Given the description of an element on the screen output the (x, y) to click on. 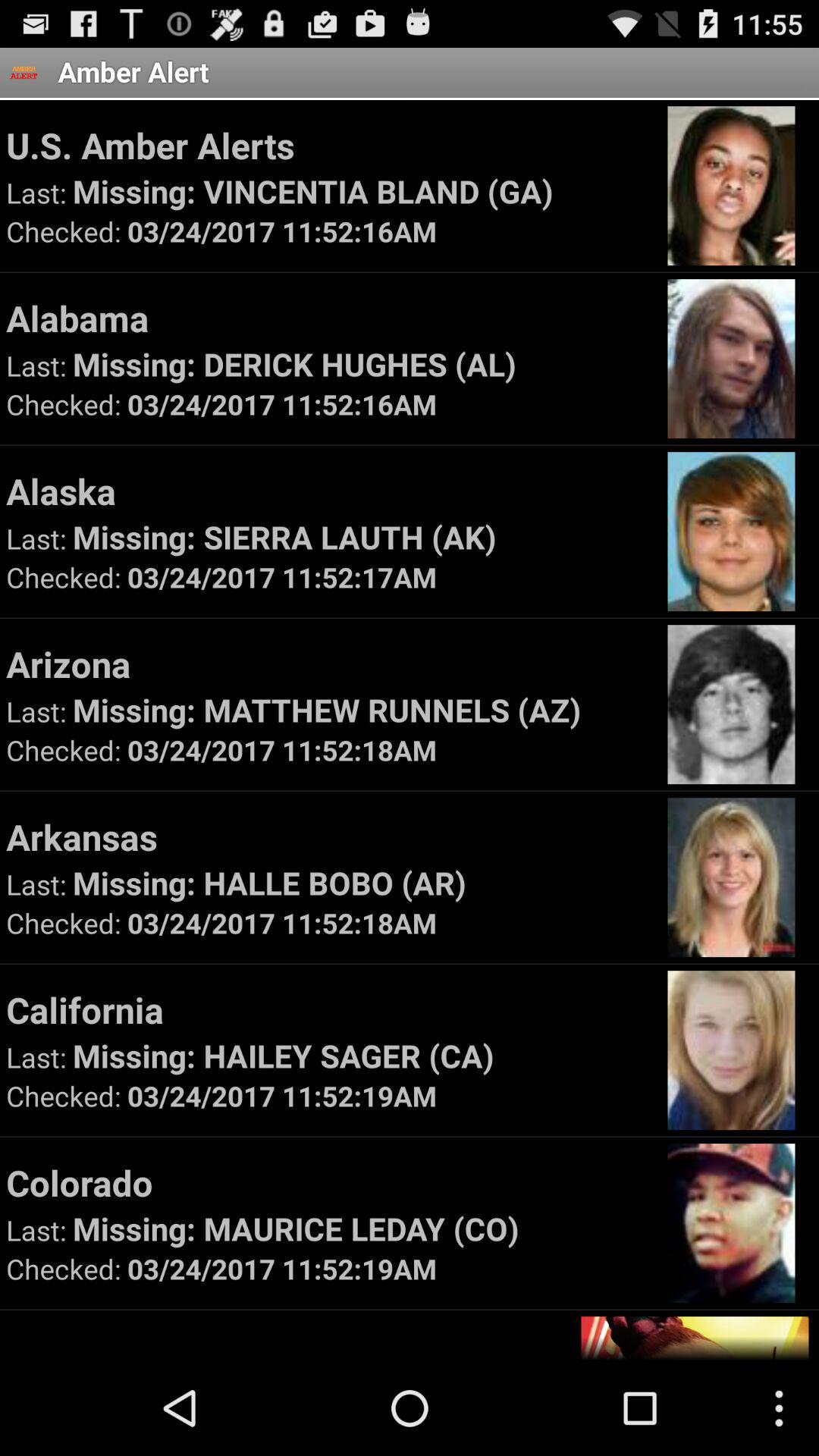
click the california icon (329, 1009)
